Given the description of an element on the screen output the (x, y) to click on. 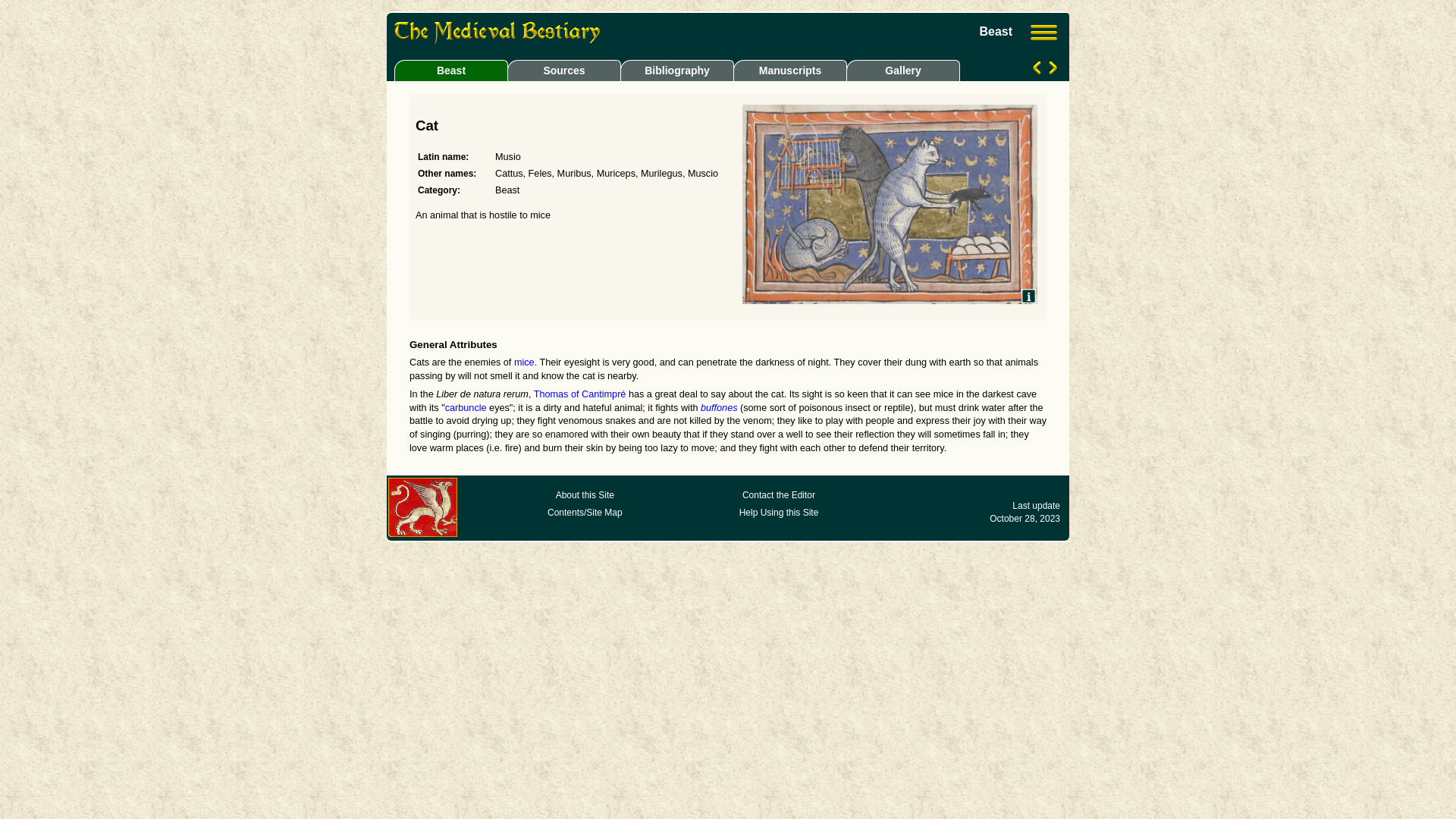
Next beast Element type: hover (1050, 70)
Gallery Element type: text (900, 69)
Contact the Editor Element type: text (778, 494)
Sources Element type: text (563, 69)
buffones Element type: text (718, 407)
Contents/Site Map Element type: text (584, 512)
carbuncle Element type: text (465, 407)
Manuscripts Element type: text (789, 69)
Help Using this Site Element type: text (779, 512)
mice Element type: text (524, 362)
About this Site Element type: text (584, 494)
Previous beast Element type: hover (1038, 70)
Image information Element type: hover (1028, 295)
Bibliography Element type: text (676, 69)
